Given the description of an element on the screen output the (x, y) to click on. 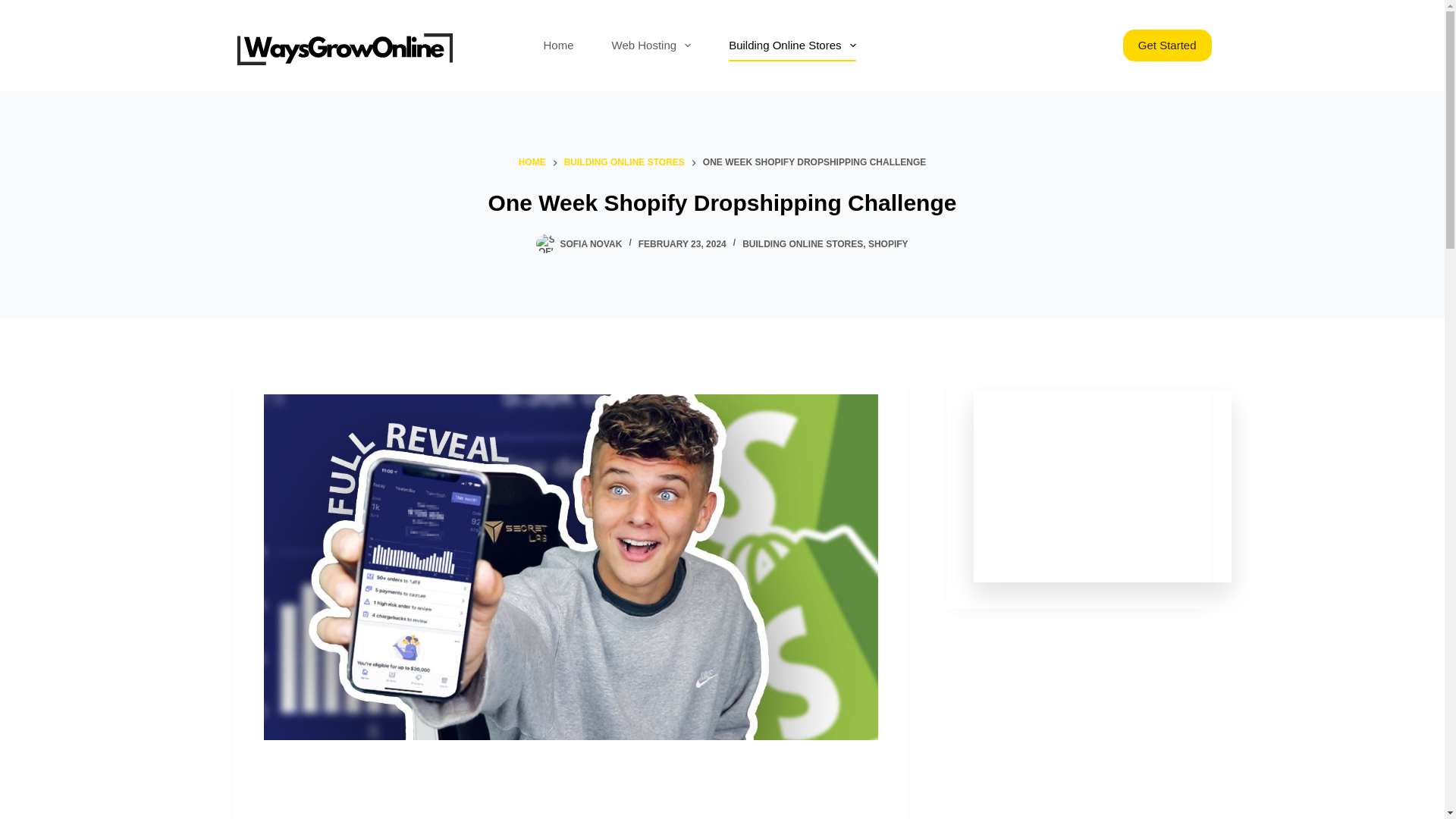
One Week Shopify Dropshipping Challenge (722, 202)
Posts by Sofia Novak (590, 244)
Skip to content (15, 7)
BUILDING ONLINE STORES (624, 162)
Home (558, 45)
Web Hosting (651, 45)
BUILDING ONLINE STORES (802, 244)
SHOPIFY (887, 244)
Get Started (1166, 45)
HOME (532, 162)
